Given the description of an element on the screen output the (x, y) to click on. 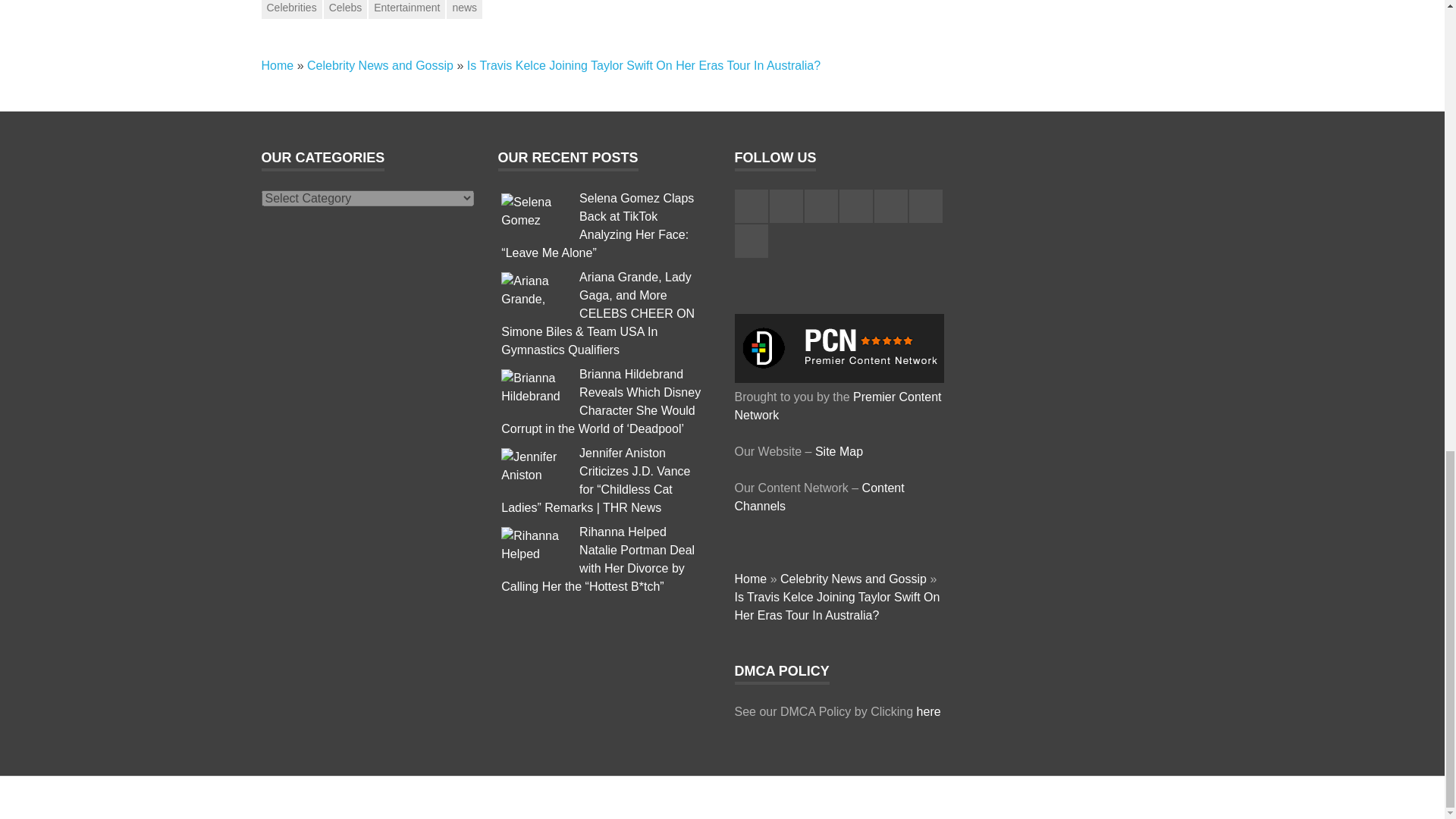
Celebrities (290, 9)
Celebs (345, 9)
Celebrity News and Gossip (379, 65)
Home (277, 65)
